Given the description of an element on the screen output the (x, y) to click on. 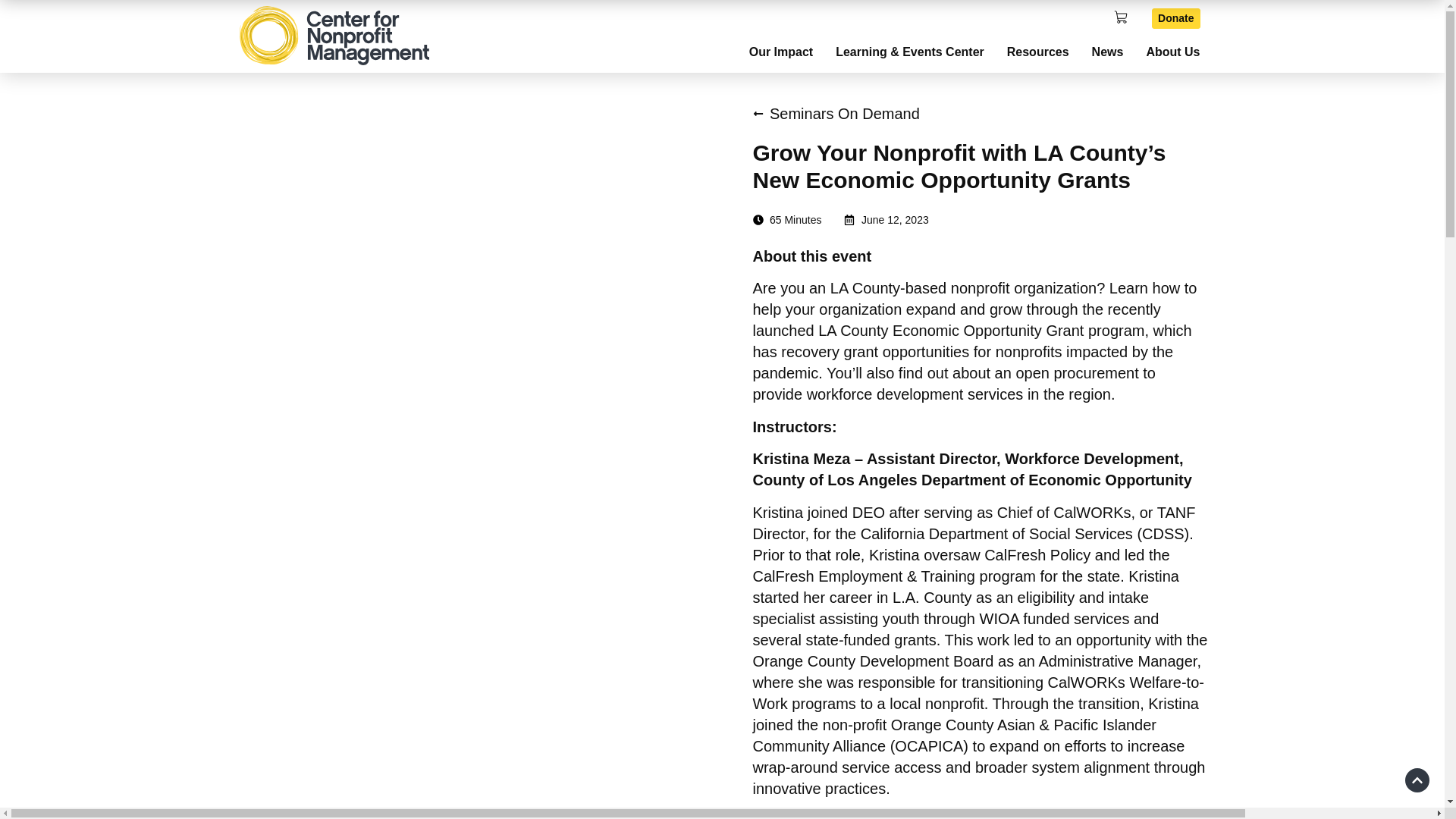
About Us (1172, 51)
Donate (1175, 18)
View Cart (1121, 17)
Back to Top (1417, 780)
Center for Nonprofit Management (334, 35)
Our Impact (780, 51)
News (1108, 51)
Resources (1037, 51)
